Given the description of an element on the screen output the (x, y) to click on. 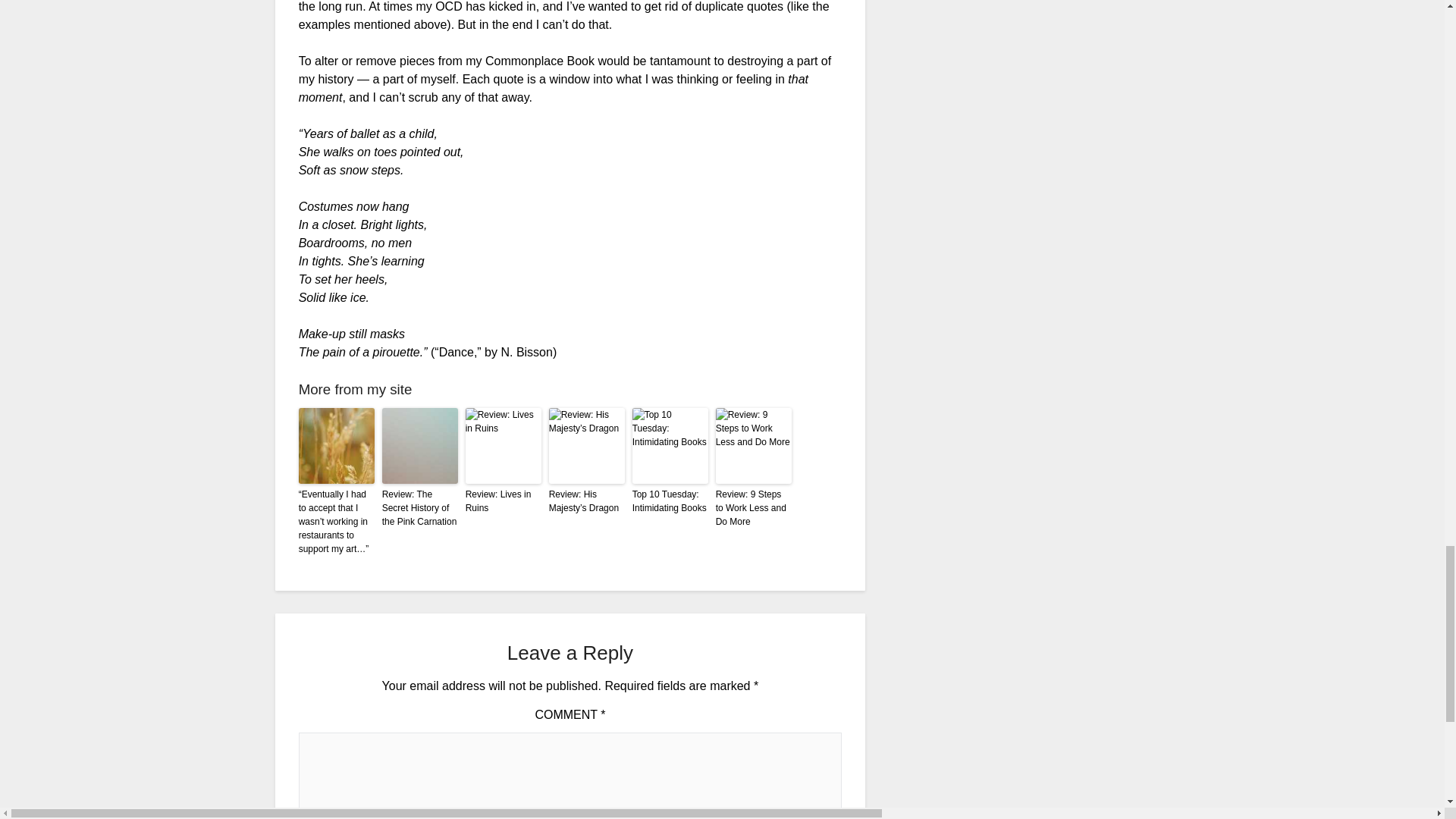
Review: The Secret History of the Pink Carnation (419, 507)
Review: 9 Steps to Work Less and Do More (754, 507)
Review: Lives in Ruins (503, 501)
Top 10 Tuesday: Intimidating Books (669, 501)
